Given the description of an element on the screen output the (x, y) to click on. 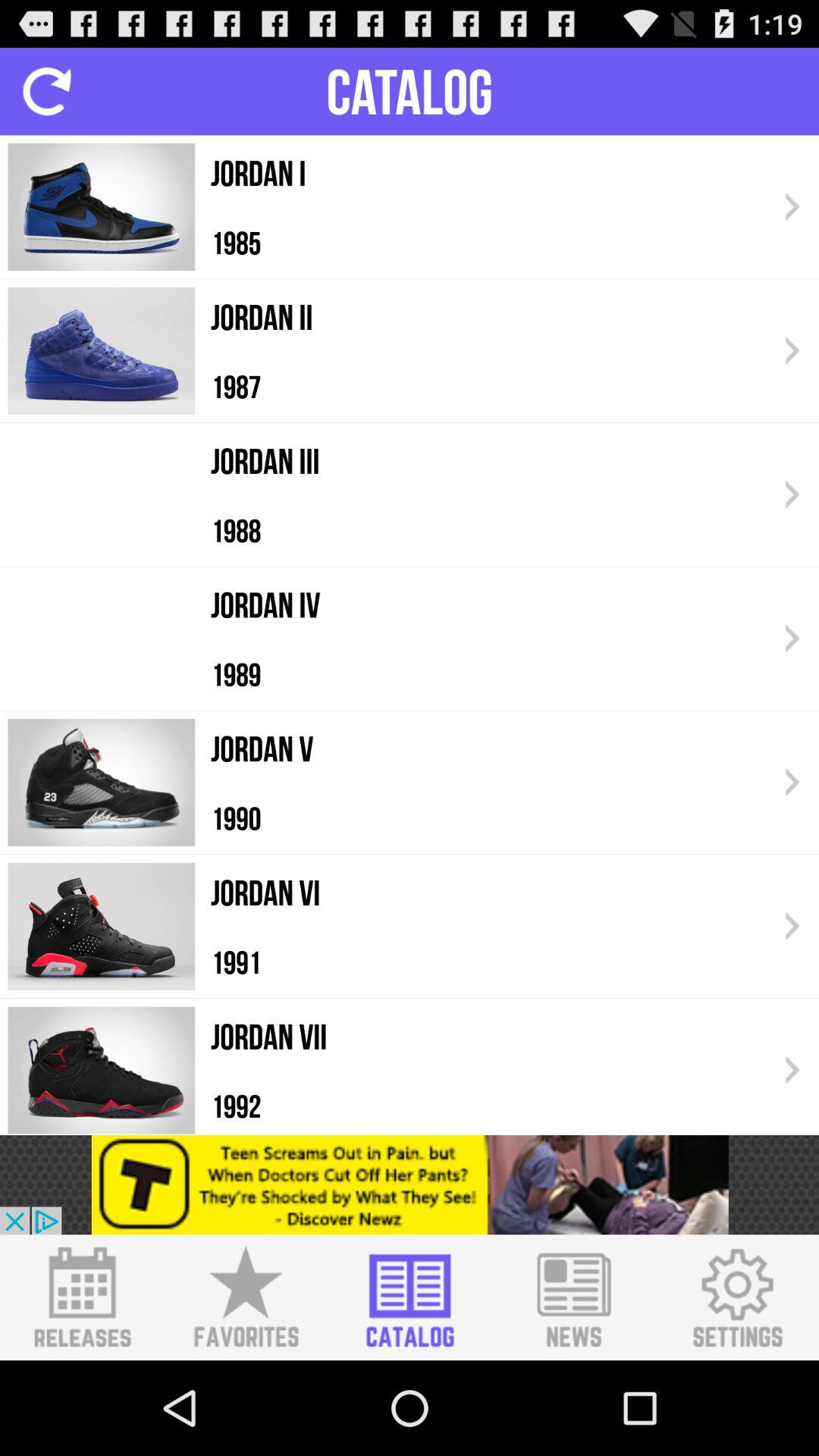
catalog releases (81, 1297)
